Given the description of an element on the screen output the (x, y) to click on. 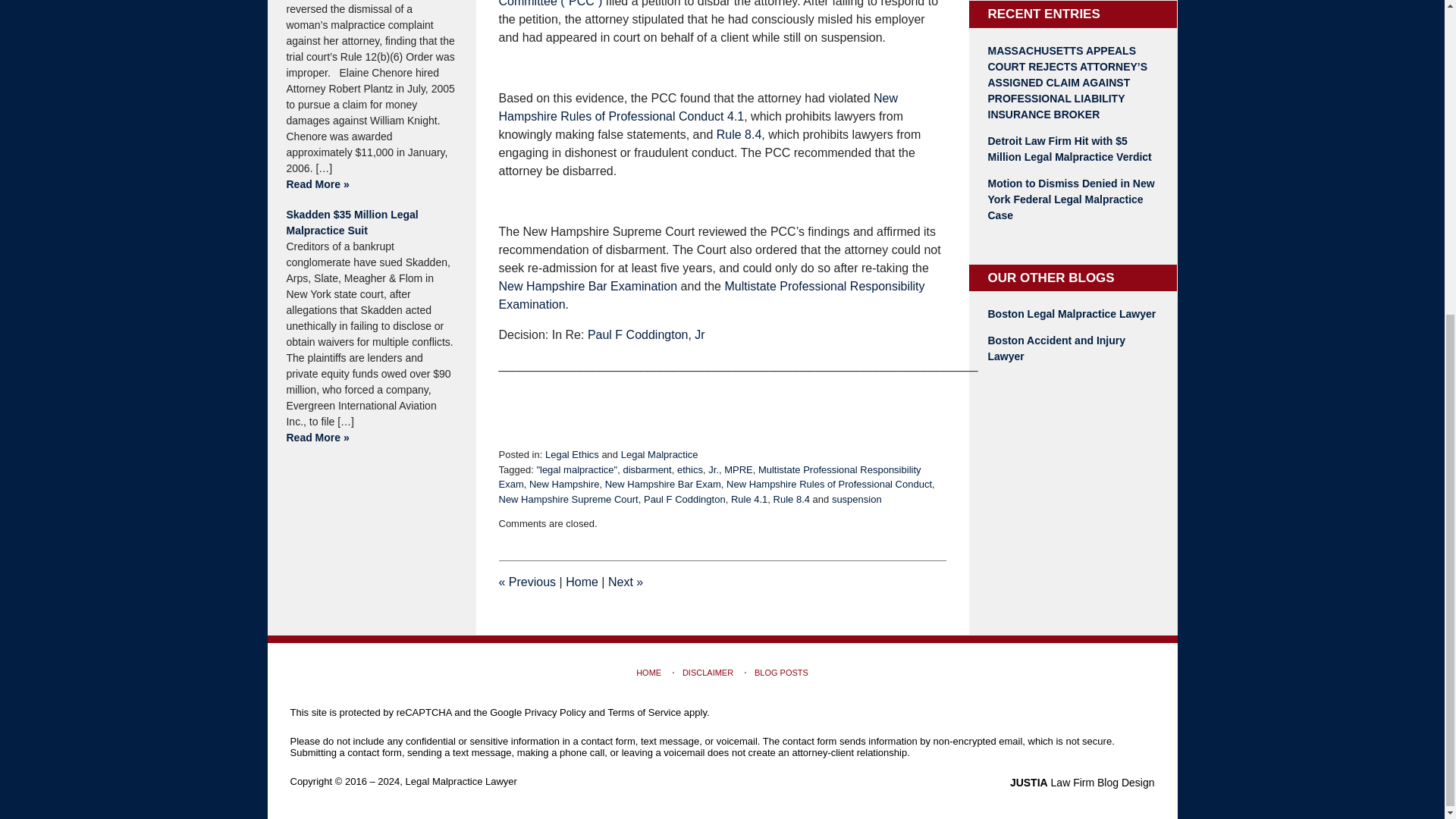
disbarment (647, 469)
View all posts in Legal Malpractice (659, 454)
New Hampshire Bar Examination (588, 286)
View all posts tagged with Paul F Coddington (684, 499)
View all posts tagged with New Hampshire Supreme Court (569, 499)
Paul F Coddington (684, 499)
Home (582, 581)
Rule 8.4 (791, 499)
View all posts tagged with Jr. (713, 469)
View all posts tagged with MPRE (737, 469)
New Hampshire Rules of Professional Conduct 4.1 (698, 106)
Multistate Professional Responsibility Exam (710, 477)
